Given the description of an element on the screen output the (x, y) to click on. 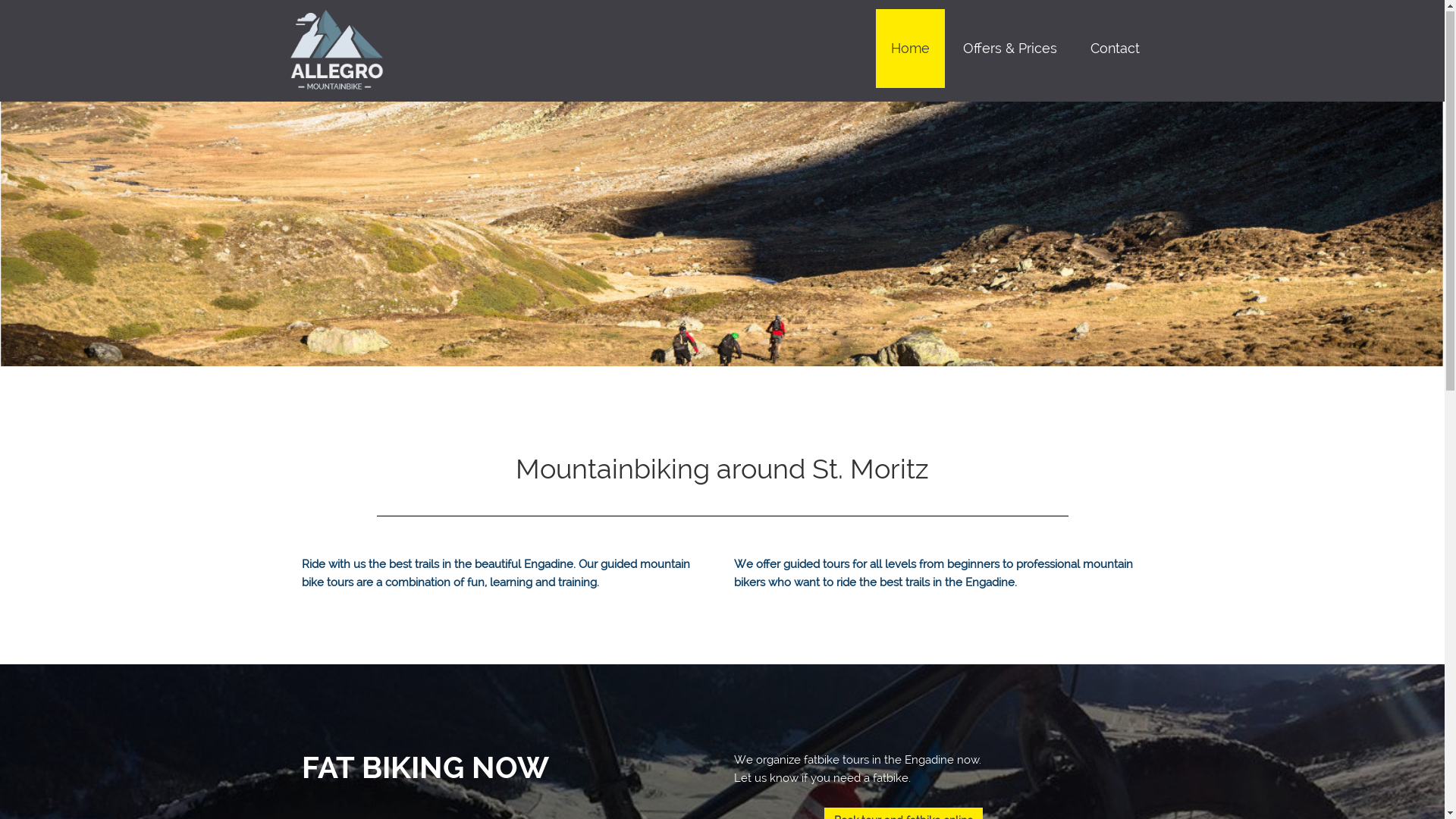
Home Element type: text (909, 48)
Offers & Prices Element type: text (1009, 48)
Contact Element type: text (1114, 48)
